Given the description of an element on the screen output the (x, y) to click on. 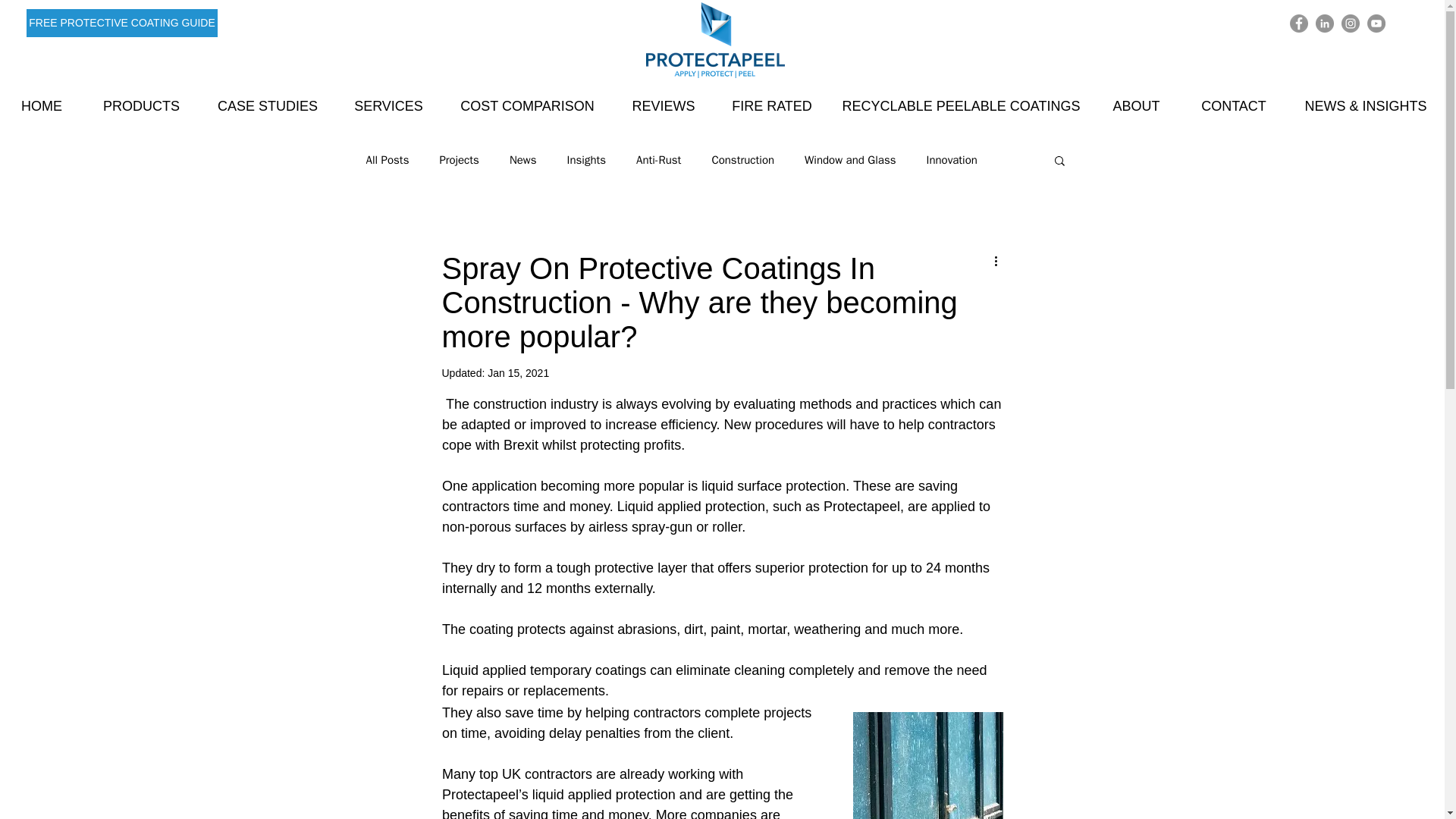
RECYCLABLE PEELABLE COATINGS (960, 105)
CONTACT (1233, 105)
Construction (742, 160)
FREE PROTECTIVE COATING GUIDE (121, 22)
COST COMPARISON (526, 105)
All Posts (387, 160)
Innovation (951, 160)
FIRE RATED (771, 105)
CASE STUDIES (267, 105)
Jan 15, 2021 (517, 372)
